Given the description of an element on the screen output the (x, y) to click on. 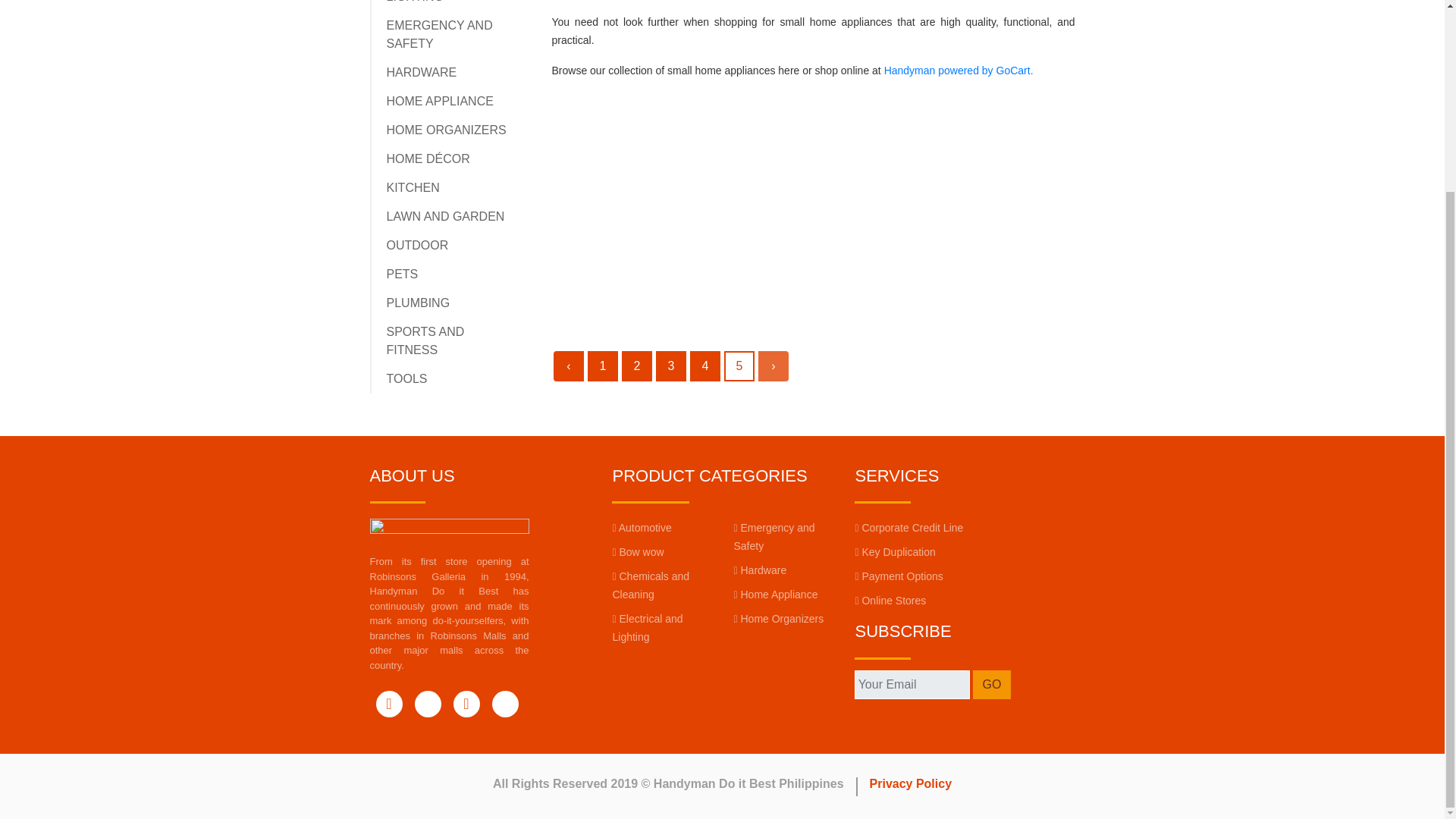
Handyman powered by GoCart. (958, 70)
PLUMBING (418, 302)
OUTDOOR (417, 245)
EMERGENCY AND SAFETY (440, 33)
3 (670, 366)
1 (602, 366)
HOME APPLIANCE (440, 101)
KITCHEN (413, 187)
2 (636, 366)
HARDWARE (422, 72)
TOOLS (407, 378)
ELECTRICAL AND LIGHTING (438, 1)
LAWN AND GARDEN (446, 215)
SPORTS AND FITNESS (425, 340)
PETS (403, 273)
